Given the description of an element on the screen output the (x, y) to click on. 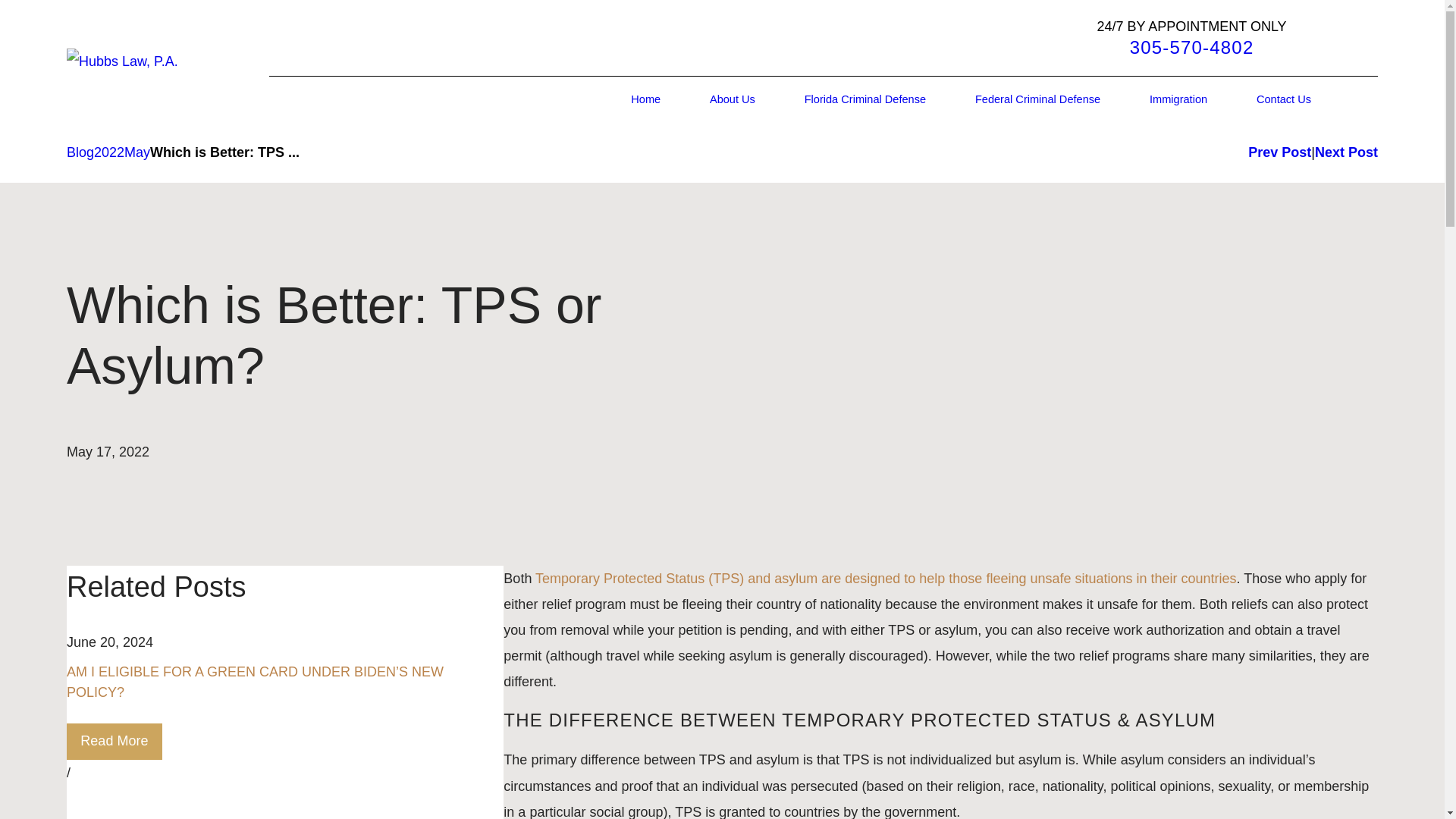
Open the accessibility options menu (1423, 798)
Florida Criminal Defense (865, 99)
Hubbs Law, P.A. (121, 61)
About Us (732, 99)
305-570-4802 (1192, 47)
